Given the description of an element on the screen output the (x, y) to click on. 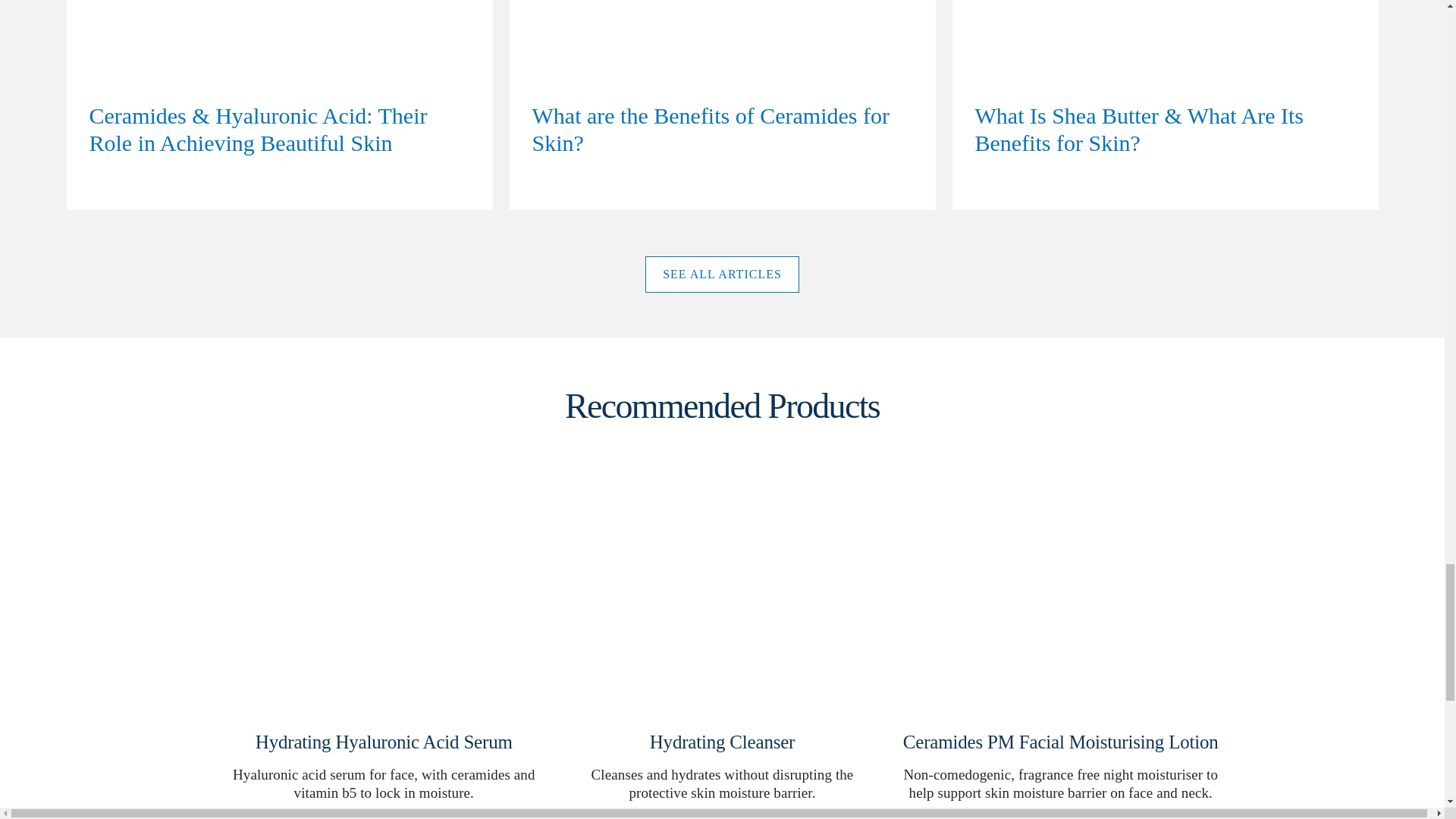
woman uses shea butter (1164, 105)
